Given the description of an element on the screen output the (x, y) to click on. 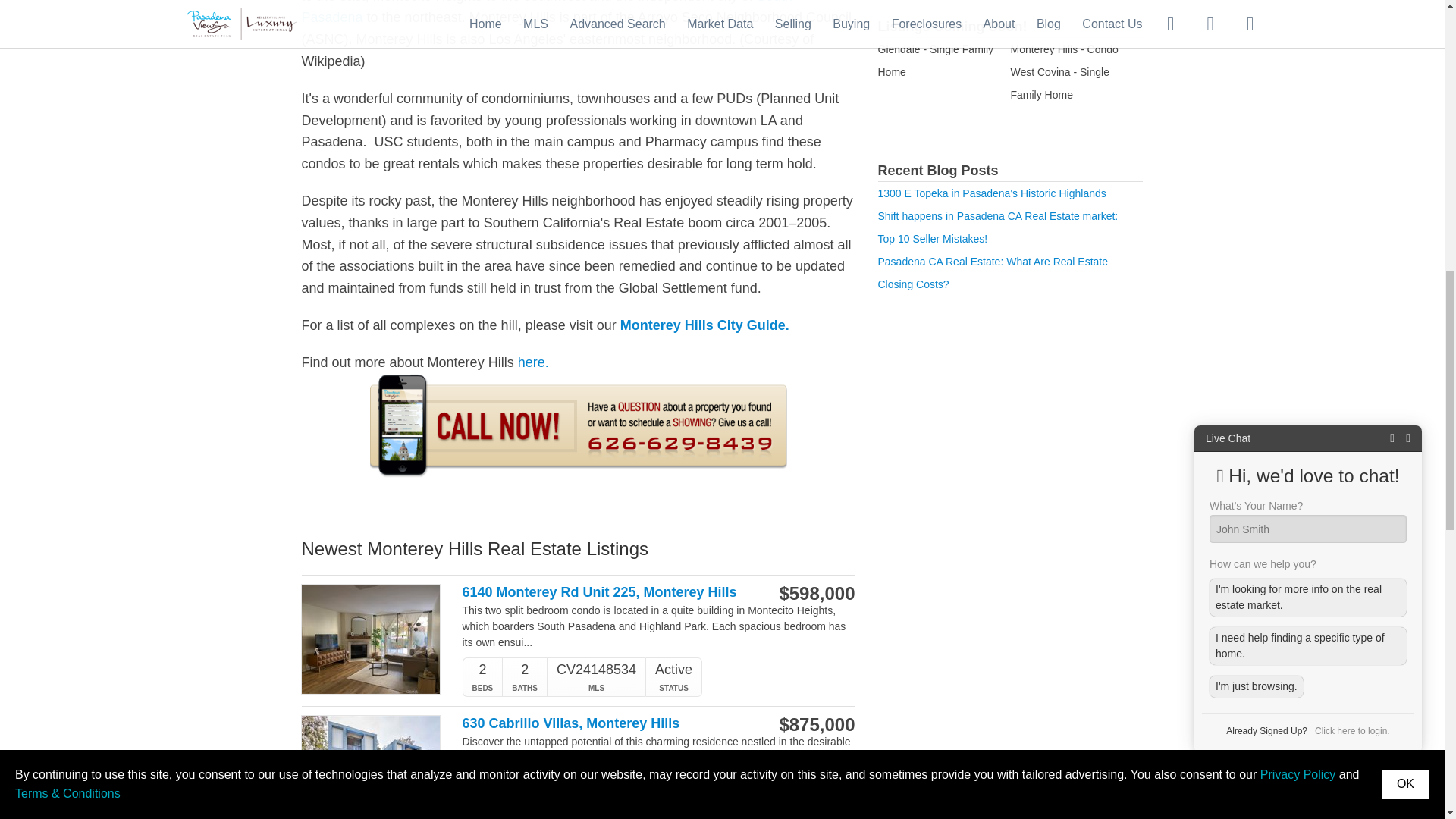
Monterey Hills complex information and details (704, 324)
here. (533, 362)
Monterey Hills City Guide. (704, 324)
6140 Monterey Rd Unit 225, Monterey Hills (600, 592)
looking for a pasadena home (578, 442)
South Pasadena (546, 12)
Monterey Hills (533, 362)
630 Cabrillo Villas, Monterey Hills (600, 723)
South Pasadena City Guide and Relocation Information (546, 12)
